Given the description of an element on the screen output the (x, y) to click on. 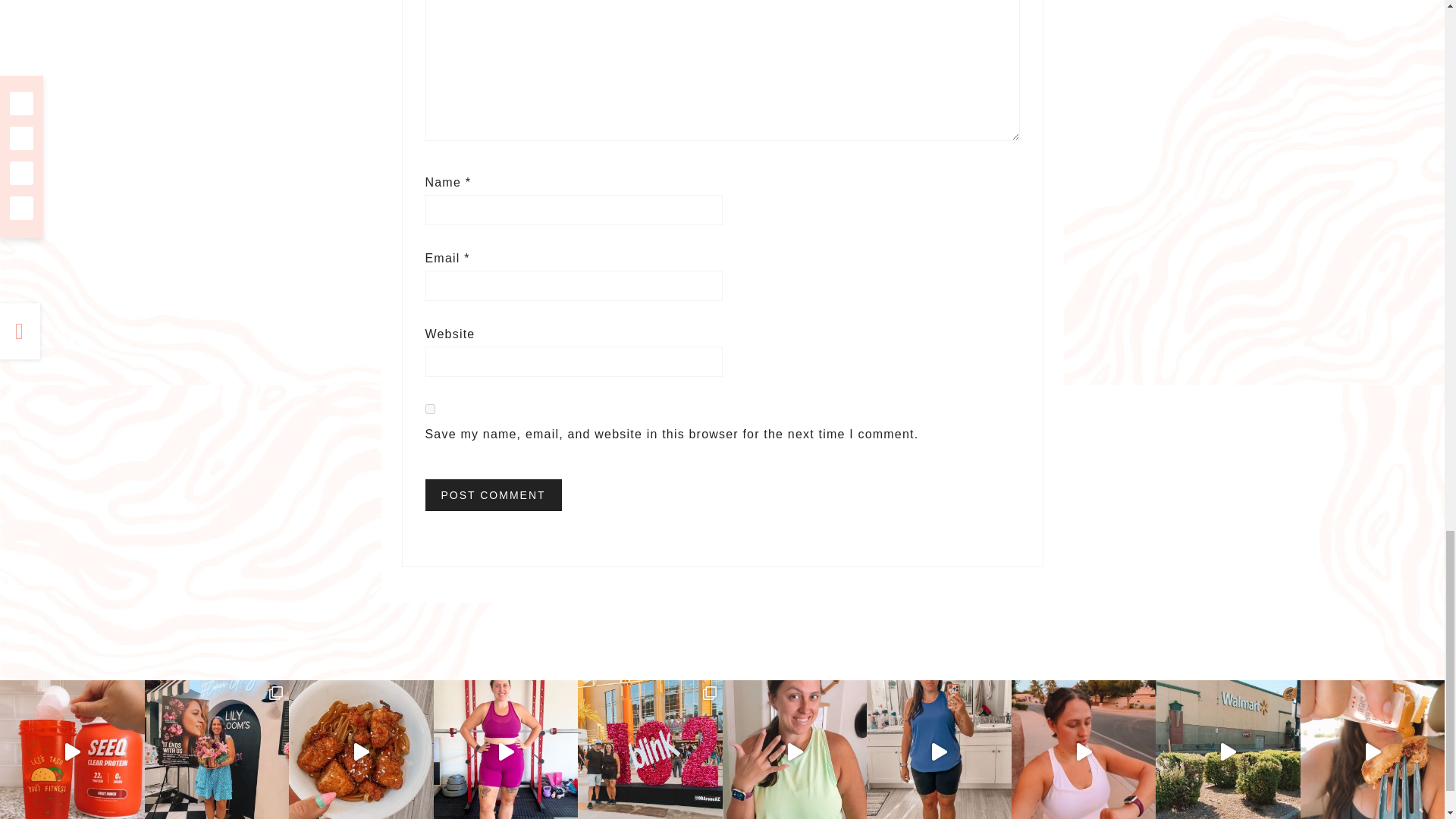
Post Comment (492, 495)
yes (429, 409)
